Given the description of an element on the screen output the (x, y) to click on. 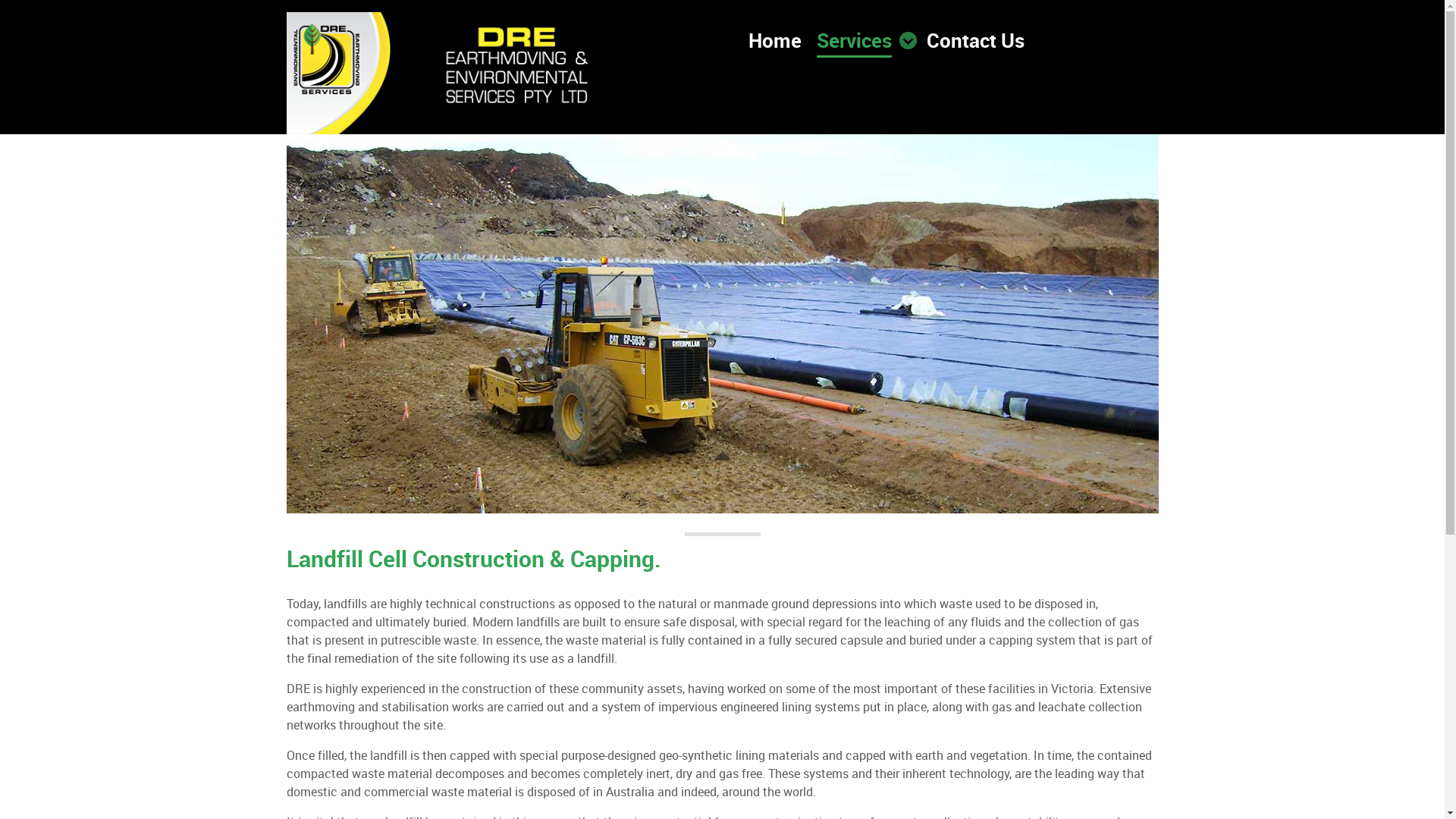
Home Element type: text (773, 40)
Services Element type: text (862, 40)
Contact Us Element type: text (975, 40)
